Given the description of an element on the screen output the (x, y) to click on. 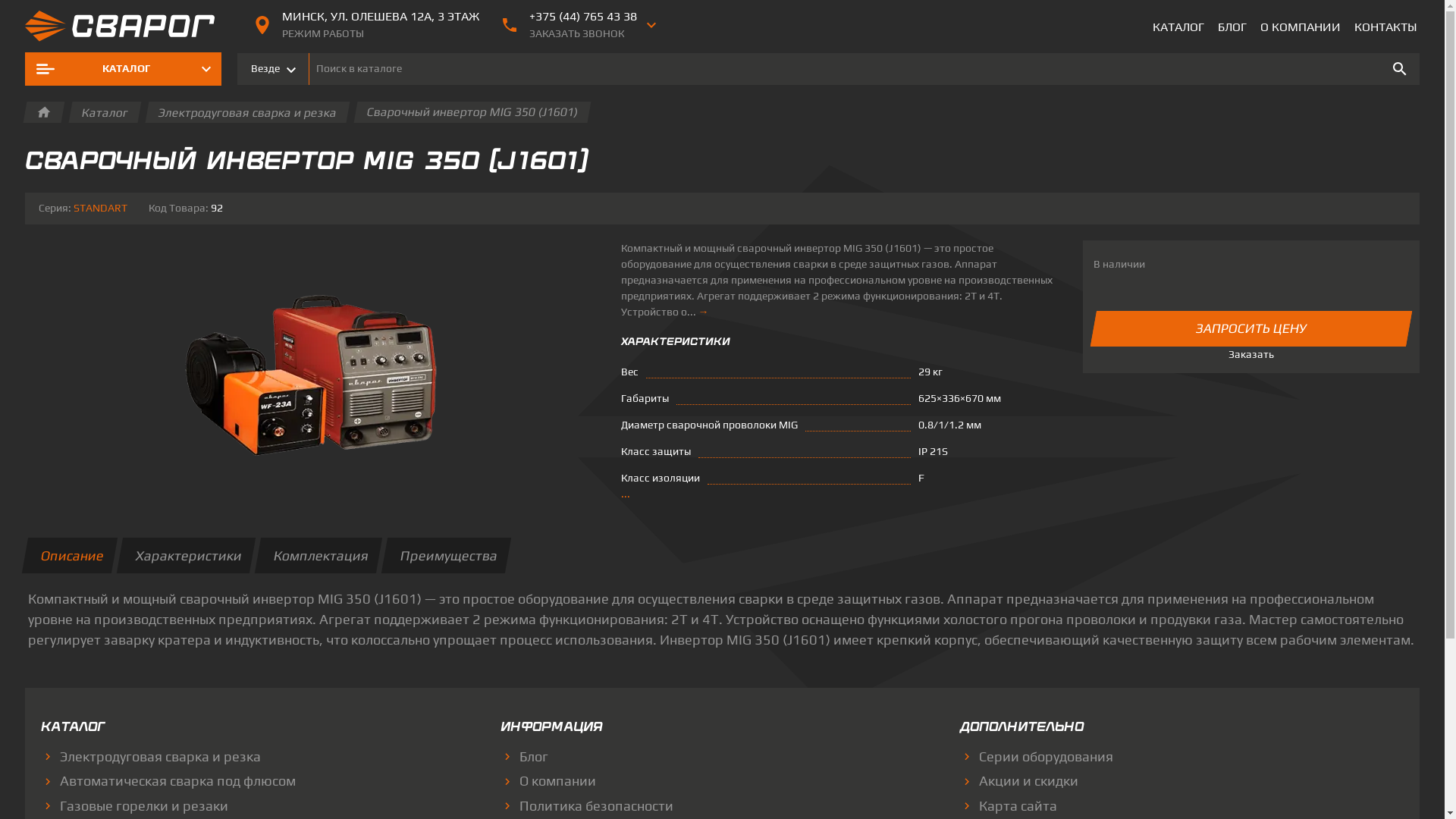
STANDART Element type: text (99, 207)
+375 (44) 765 43 38 Element type: text (583, 16)
... Element type: text (624, 493)
